Given the description of an element on the screen output the (x, y) to click on. 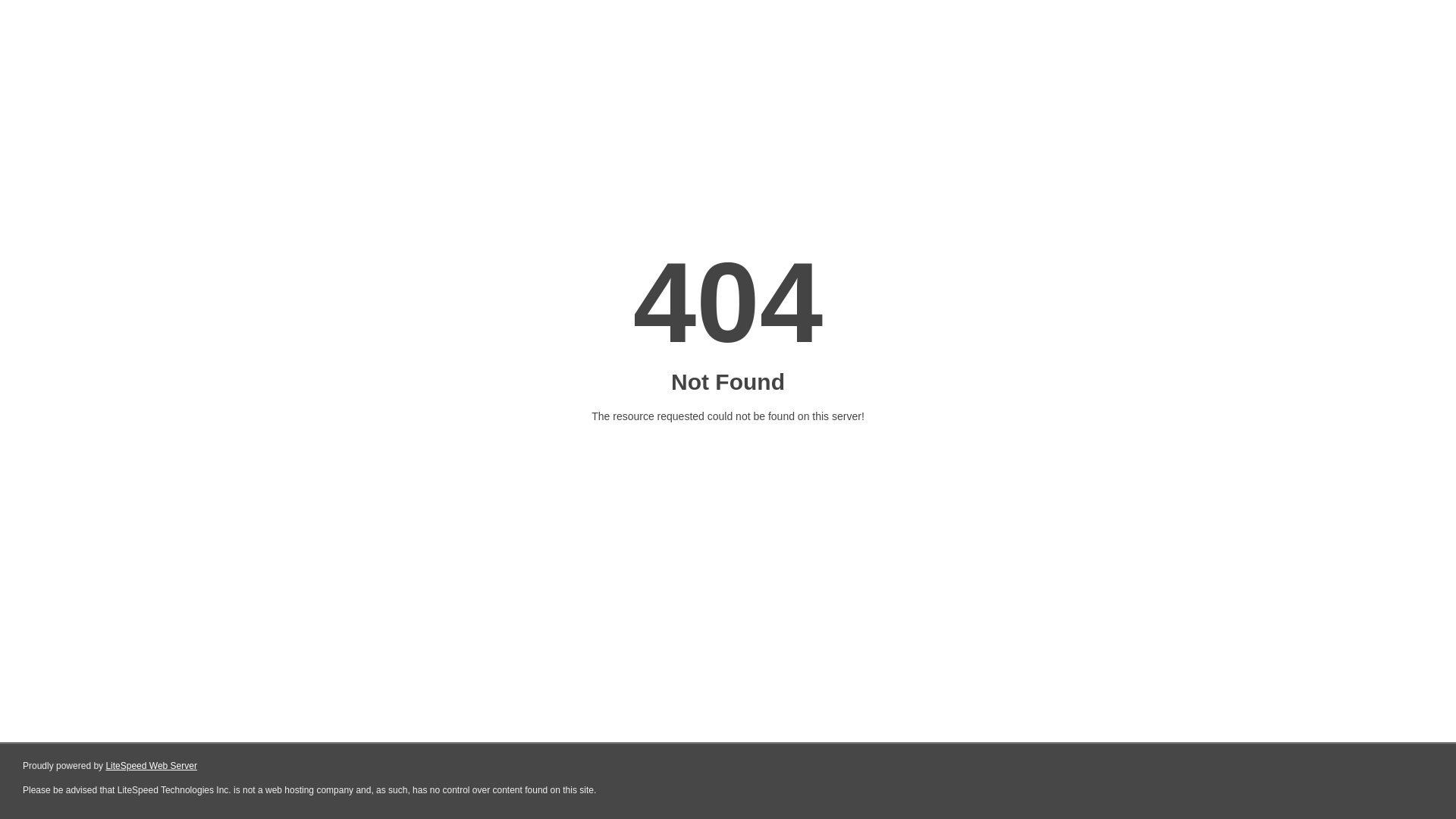
LiteSpeed Web Server Element type: text (151, 765)
